Given the description of an element on the screen output the (x, y) to click on. 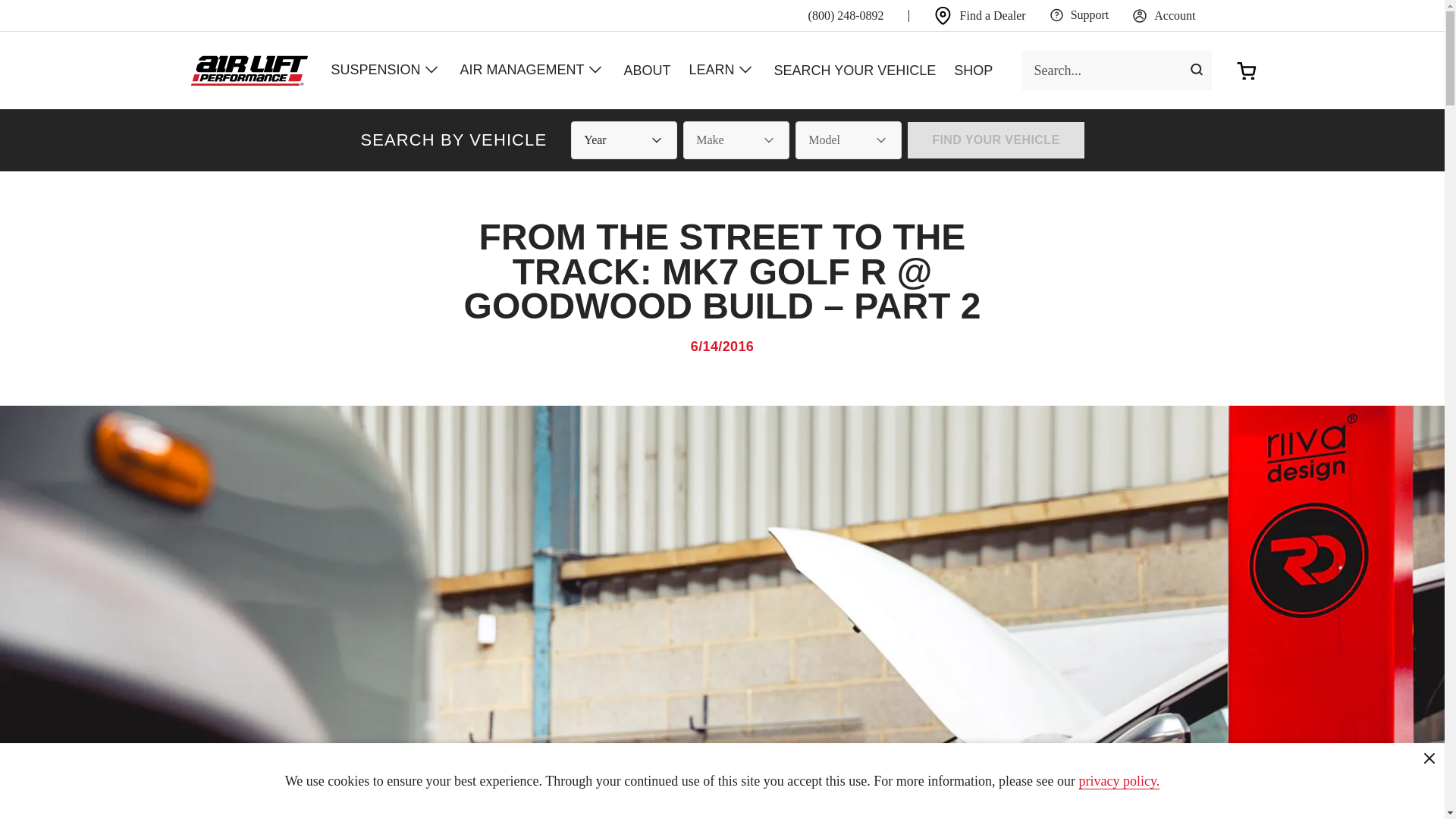
FIND YOUR VEHICLE (995, 140)
Model (847, 139)
SEARCH YOUR VEHICLE (854, 69)
SUSPENSION (385, 69)
ABOUT (646, 69)
Find a Dealer (979, 15)
AIR MANAGEMENT (532, 69)
Support (1079, 14)
Year (623, 139)
LEARN (721, 69)
SHOP (972, 69)
Account (1163, 15)
Make (735, 139)
